Given the description of an element on the screen output the (x, y) to click on. 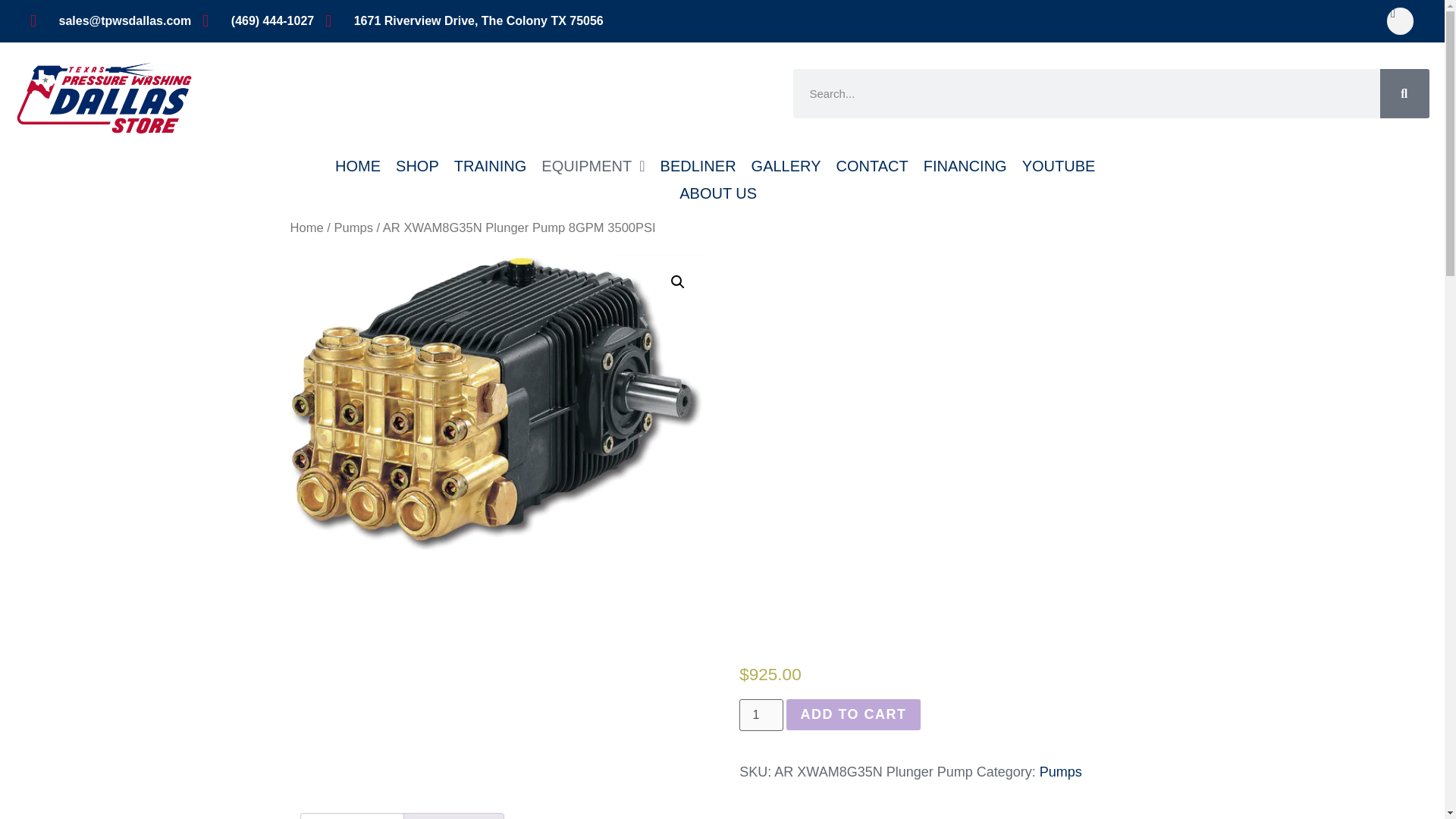
AR XWAM8G35N Plunger Pump (496, 401)
TRAINING (490, 165)
EQUIPMENT (593, 165)
HOME (357, 165)
SHOP (417, 165)
1 (761, 715)
